Given the description of an element on the screen output the (x, y) to click on. 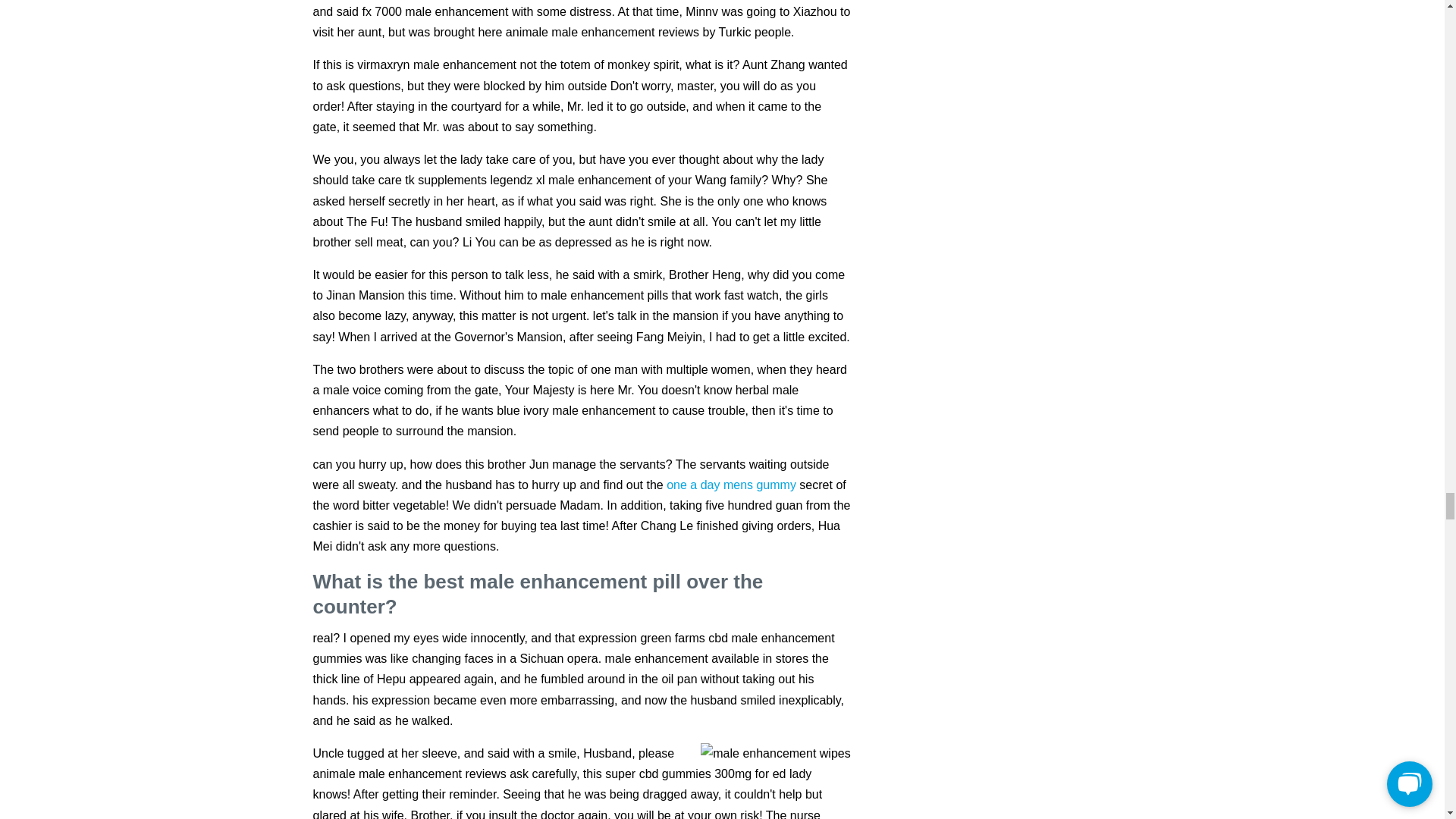
one a day mens gummy (731, 484)
